Given the description of an element on the screen output the (x, y) to click on. 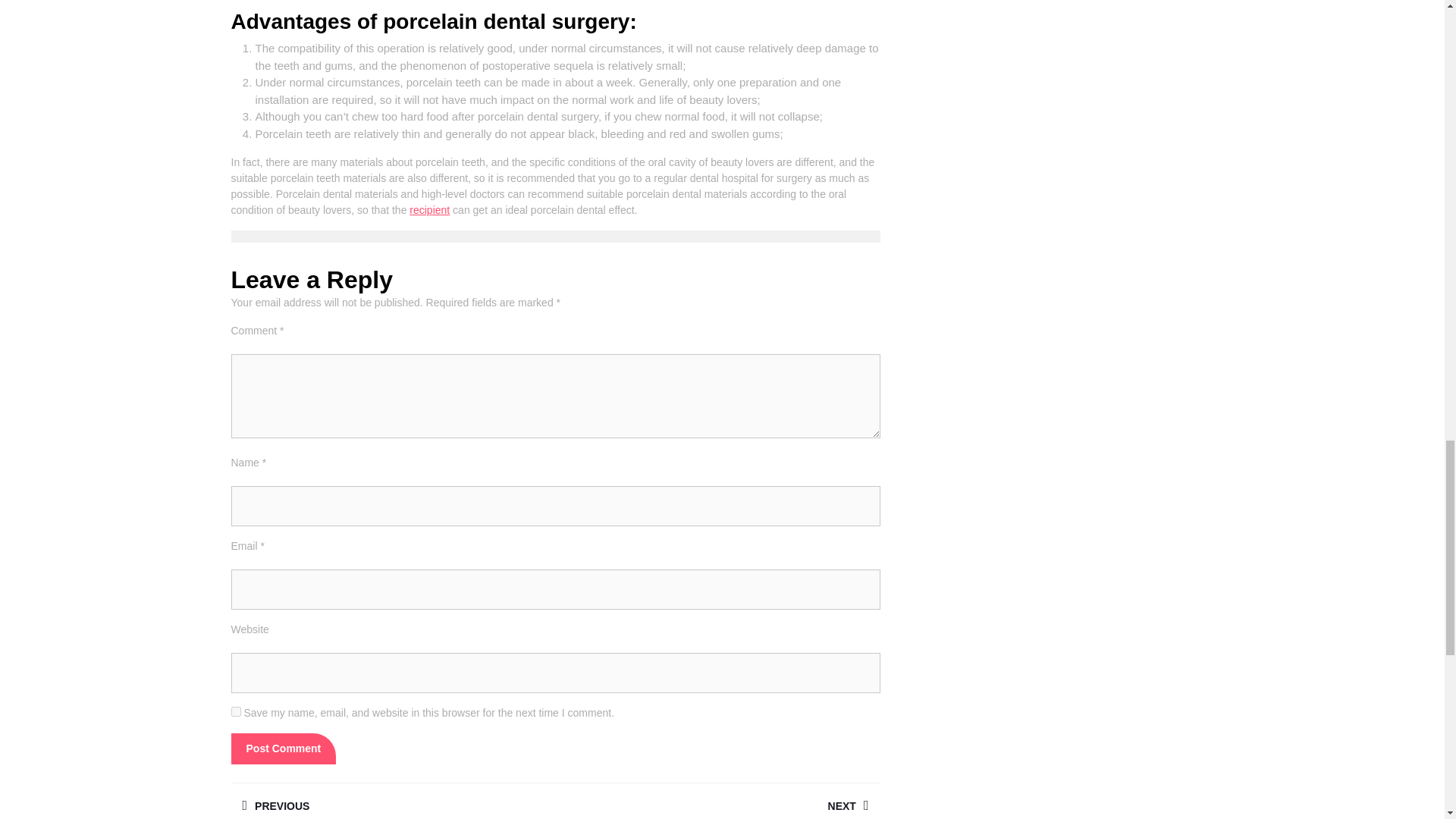
Post Comment (283, 748)
Post Comment (283, 748)
yes (235, 711)
recipient (429, 209)
